Given the description of an element on the screen output the (x, y) to click on. 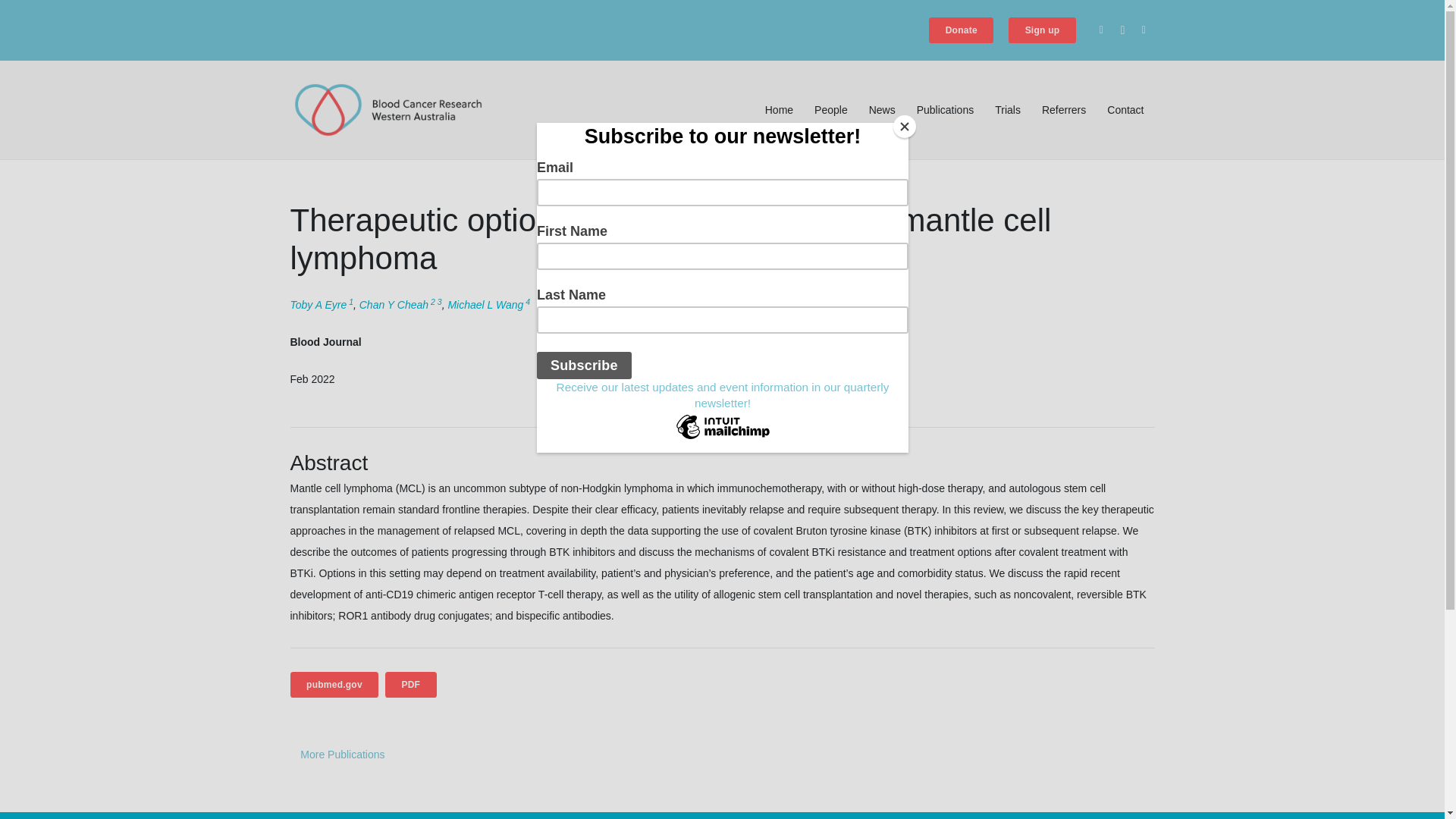
Toby A Eyre (317, 304)
Facebook (1101, 29)
Chan Y Cheah (393, 304)
pubmed.gov (333, 684)
Instagram (1122, 29)
LinkedIn (1143, 29)
PDF (410, 684)
Donate (960, 30)
Sign up (1042, 30)
Michael L Wang (484, 304)
